Given the description of an element on the screen output the (x, y) to click on. 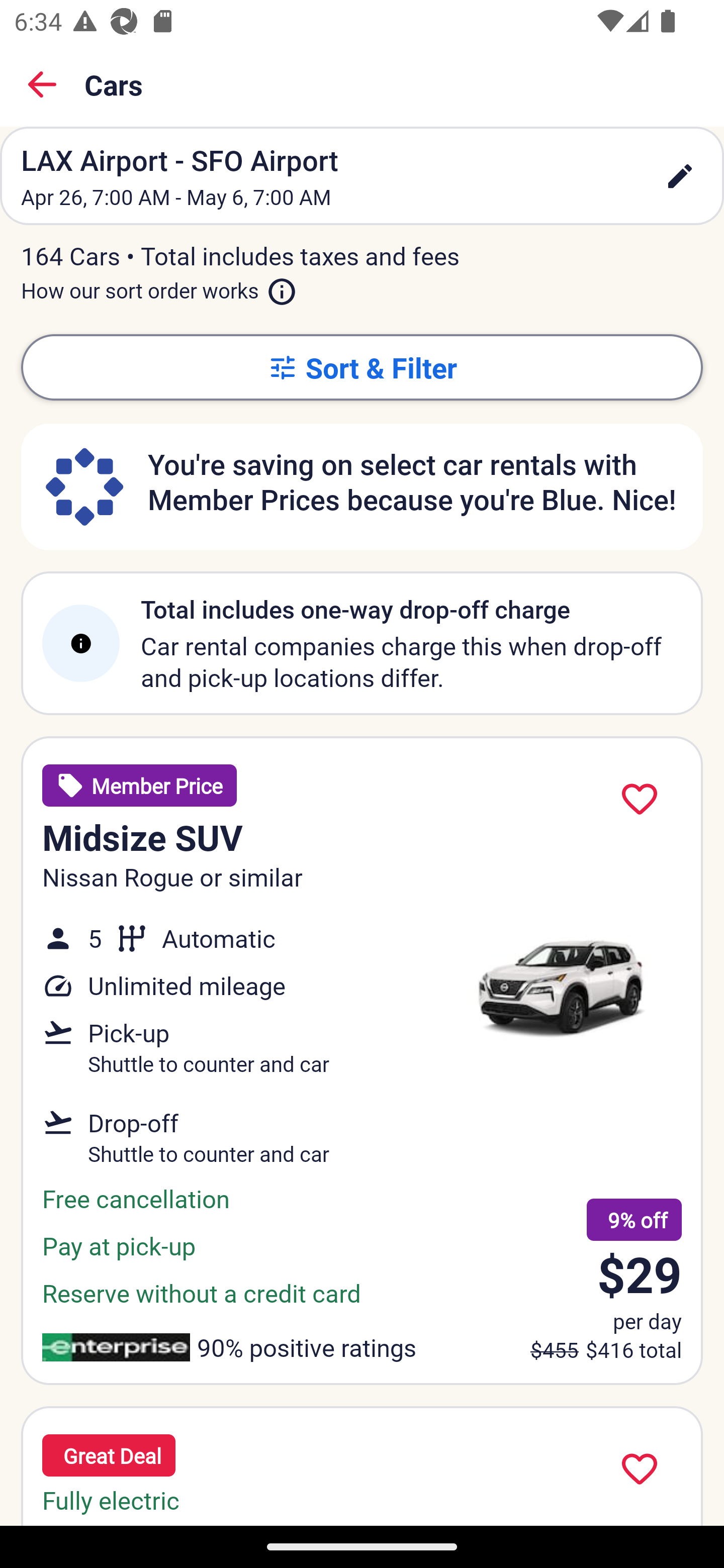
Back (42, 84)
edit (679, 175)
How our sort order works (158, 286)
Sort & Filter (361, 366)
